Given the description of an element on the screen output the (x, y) to click on. 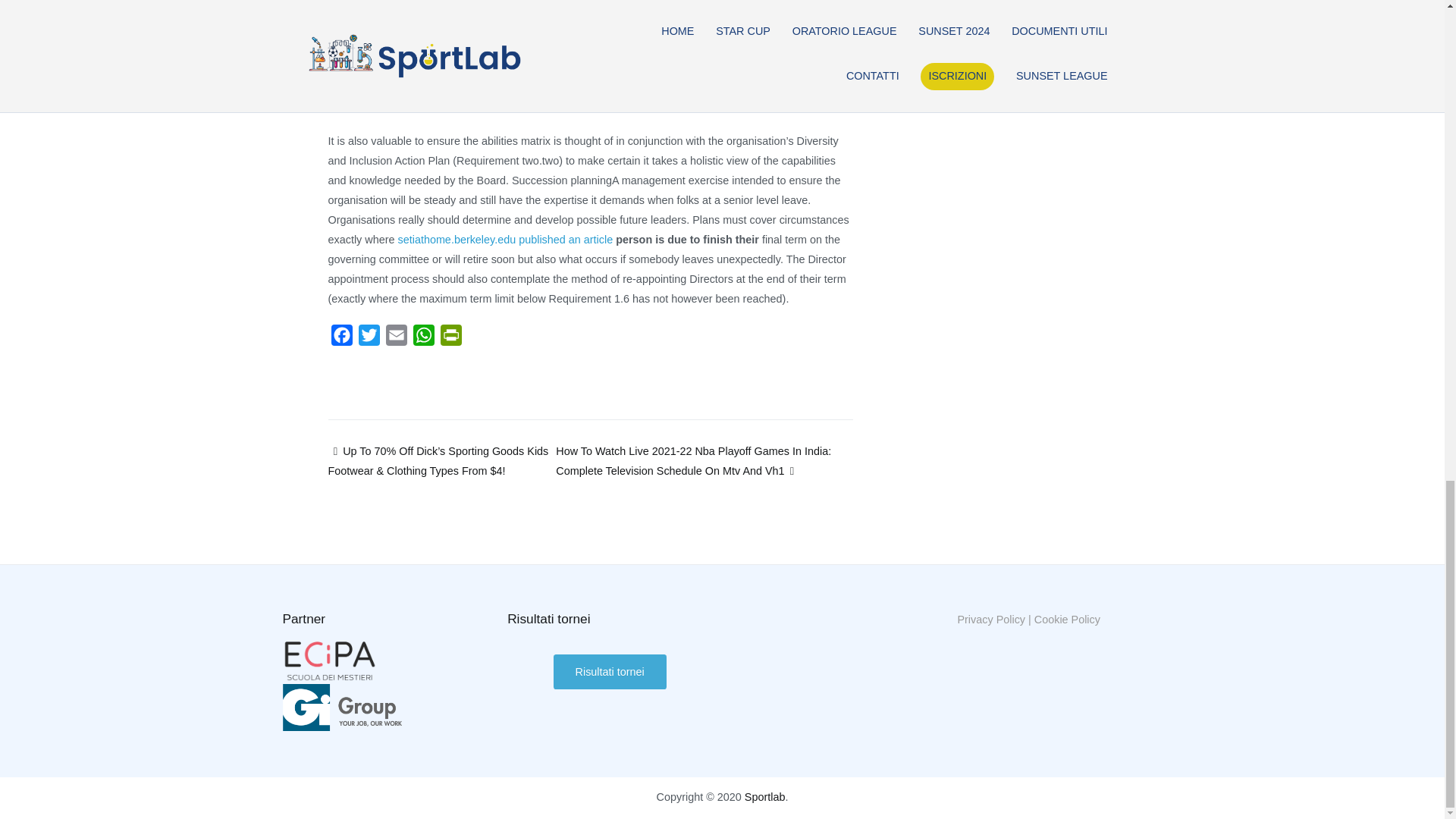
Twitter (368, 338)
setiathome.berkeley.edu published an article (504, 239)
Email (395, 338)
Facebook (341, 338)
Risultati tornei (609, 671)
Privacy Policy (990, 619)
WhatsApp (422, 338)
PrintFriendly (450, 338)
PrintFriendly (450, 338)
